Given the description of an element on the screen output the (x, y) to click on. 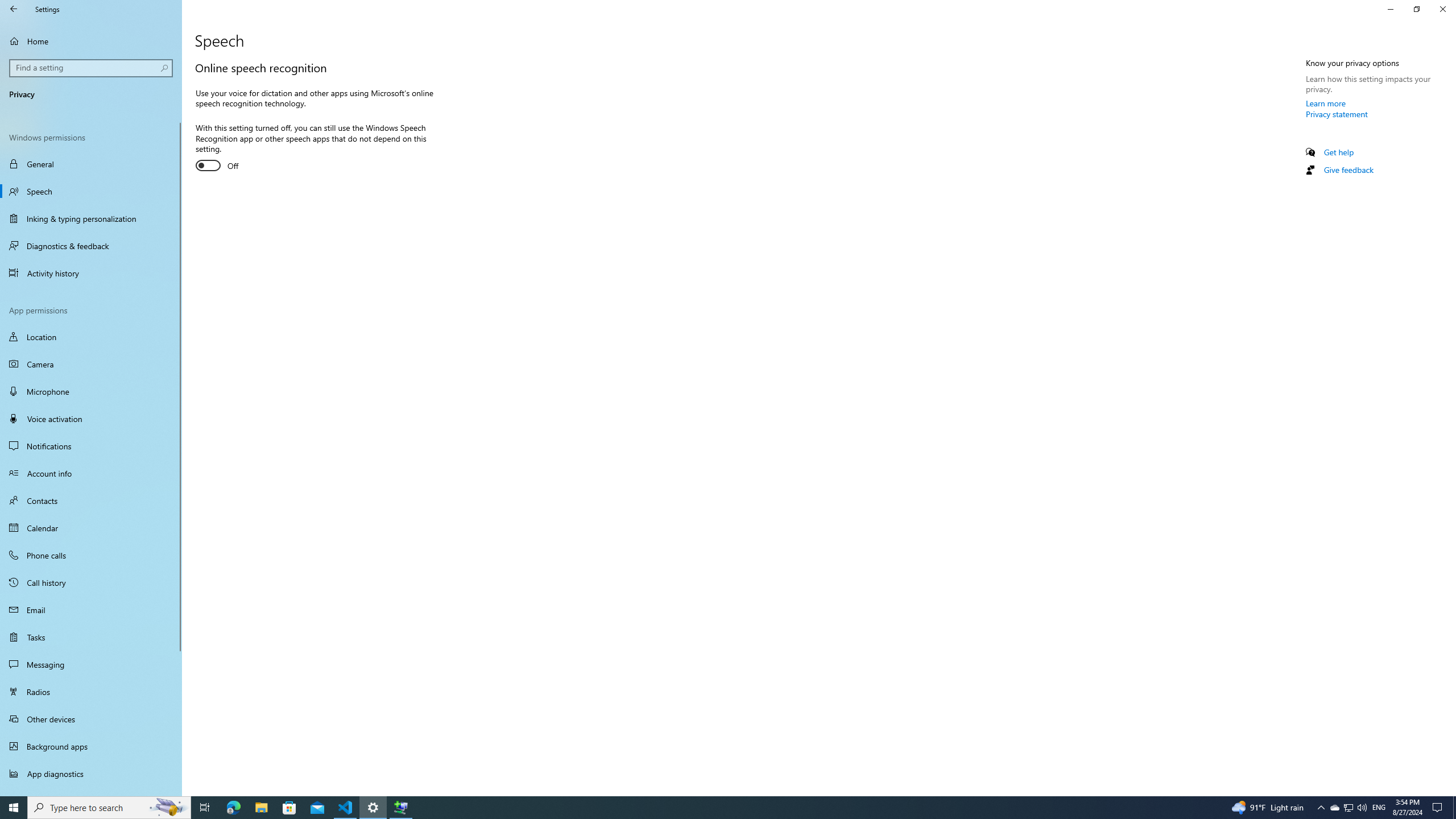
Privacy statement (1336, 113)
Diagnostics & feedback (91, 245)
Tasks (91, 636)
Email (91, 609)
